Given the description of an element on the screen output the (x, y) to click on. 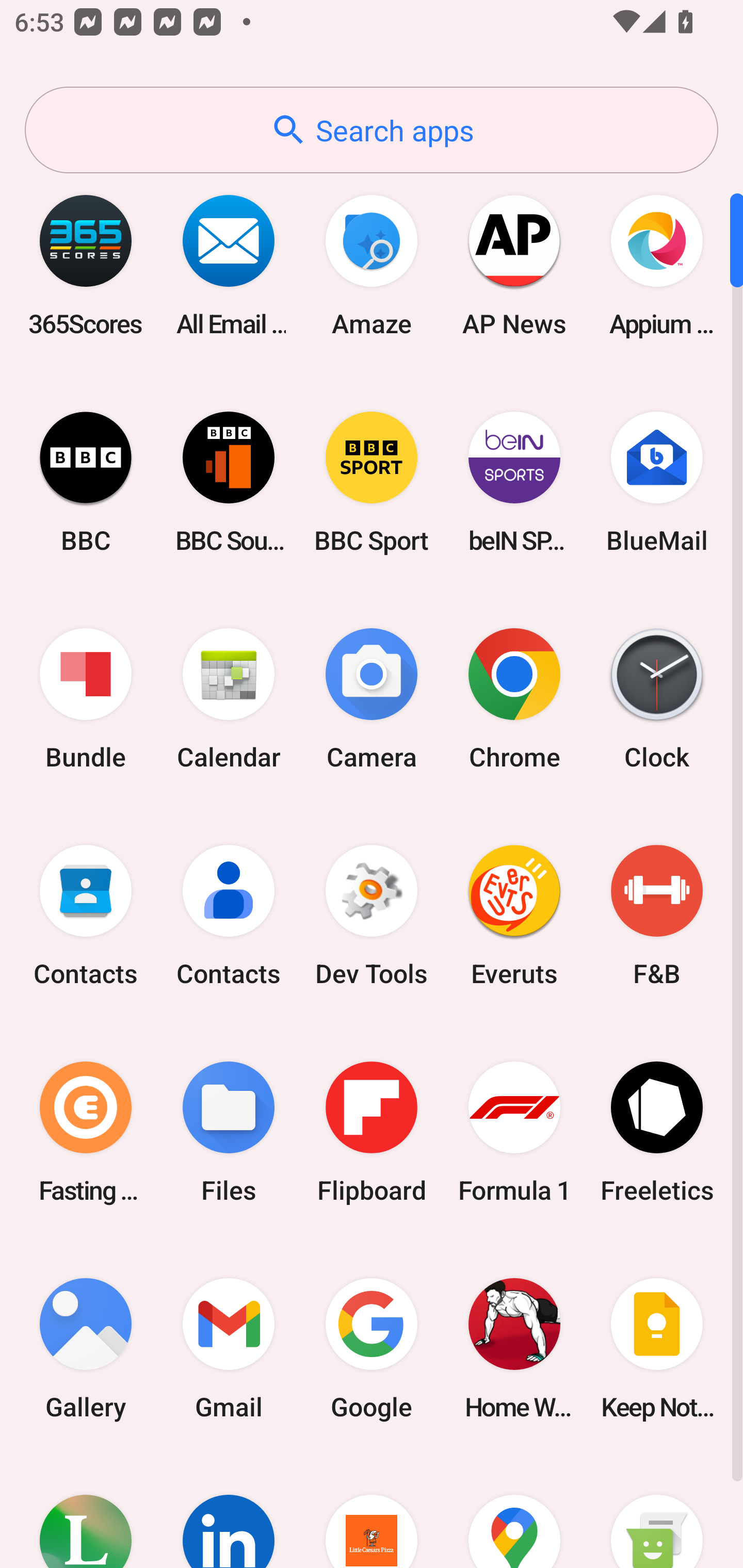
  Search apps (371, 130)
365Scores (85, 264)
All Email Connect (228, 264)
Amaze (371, 264)
AP News (514, 264)
Appium Settings (656, 264)
BBC (85, 482)
BBC Sounds (228, 482)
BBC Sport (371, 482)
beIN SPORTS (514, 482)
BlueMail (656, 482)
Bundle (85, 699)
Calendar (228, 699)
Camera (371, 699)
Chrome (514, 699)
Clock (656, 699)
Contacts (85, 915)
Contacts (228, 915)
Dev Tools (371, 915)
Everuts (514, 915)
F&B (656, 915)
Fasting Coach (85, 1131)
Files (228, 1131)
Flipboard (371, 1131)
Formula 1 (514, 1131)
Freeletics (656, 1131)
Gallery (85, 1348)
Gmail (228, 1348)
Google (371, 1348)
Home Workout (514, 1348)
Keep Notes (656, 1348)
Lifesum (85, 1512)
LinkedIn (228, 1512)
Little Caesars Pizza (371, 1512)
Maps (514, 1512)
Messaging (656, 1512)
